Given the description of an element on the screen output the (x, y) to click on. 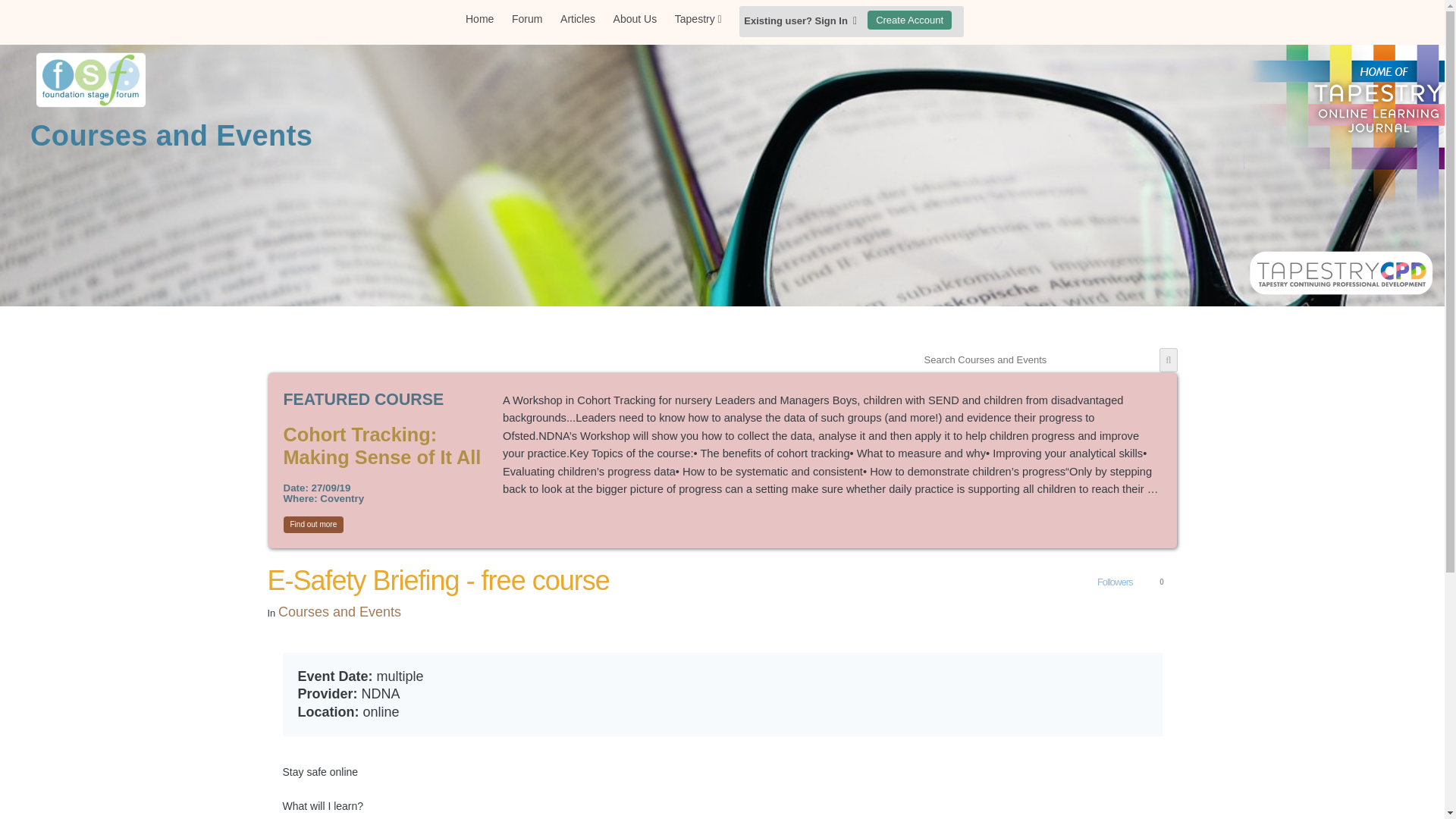
Existing user? Sign In   (800, 20)
Find out more (313, 524)
Create Account (909, 19)
Home (479, 19)
Forum (526, 19)
Articles (577, 19)
Cohort Tracking: Making Sense of It All (382, 445)
About Us (635, 19)
Cohort Tracking: Making Sense of It All (382, 445)
Tapestry (698, 19)
